Given the description of an element on the screen output the (x, y) to click on. 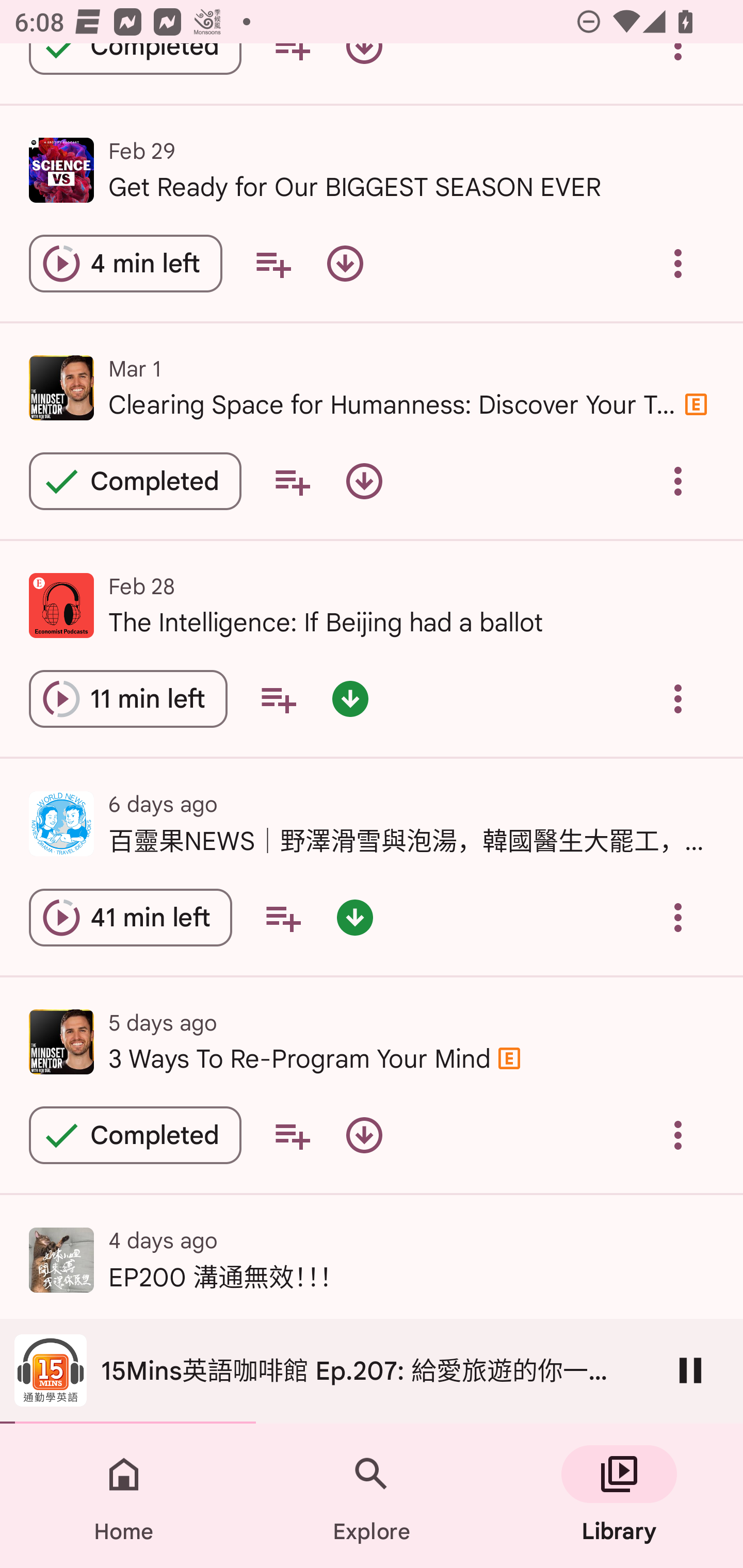
Add to your queue (273, 263)
Download episode (345, 263)
Overflow menu (677, 263)
Add to your queue (291, 481)
Download episode (364, 481)
Overflow menu (677, 481)
Add to your queue (278, 698)
Episode downloaded - double tap for options (350, 698)
Overflow menu (677, 698)
Add to your queue (282, 917)
Episode downloaded - double tap for options (354, 917)
Overflow menu (677, 917)
Add to your queue (291, 1135)
Download episode (364, 1135)
Overflow menu (677, 1135)
Pause (690, 1370)
Home (123, 1495)
Explore (371, 1495)
